Given the description of an element on the screen output the (x, y) to click on. 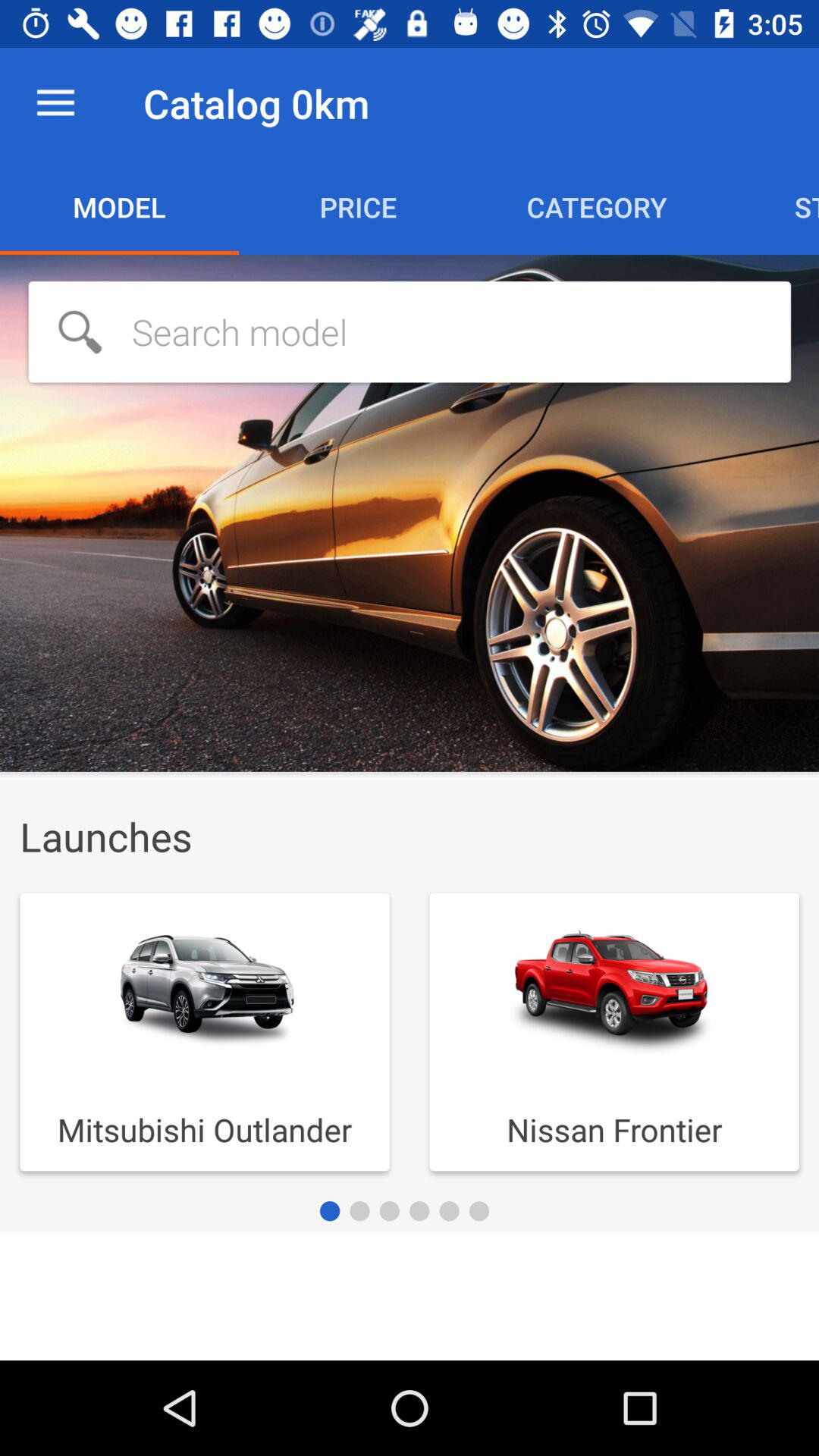
open item below model icon (409, 331)
